Given the description of an element on the screen output the (x, y) to click on. 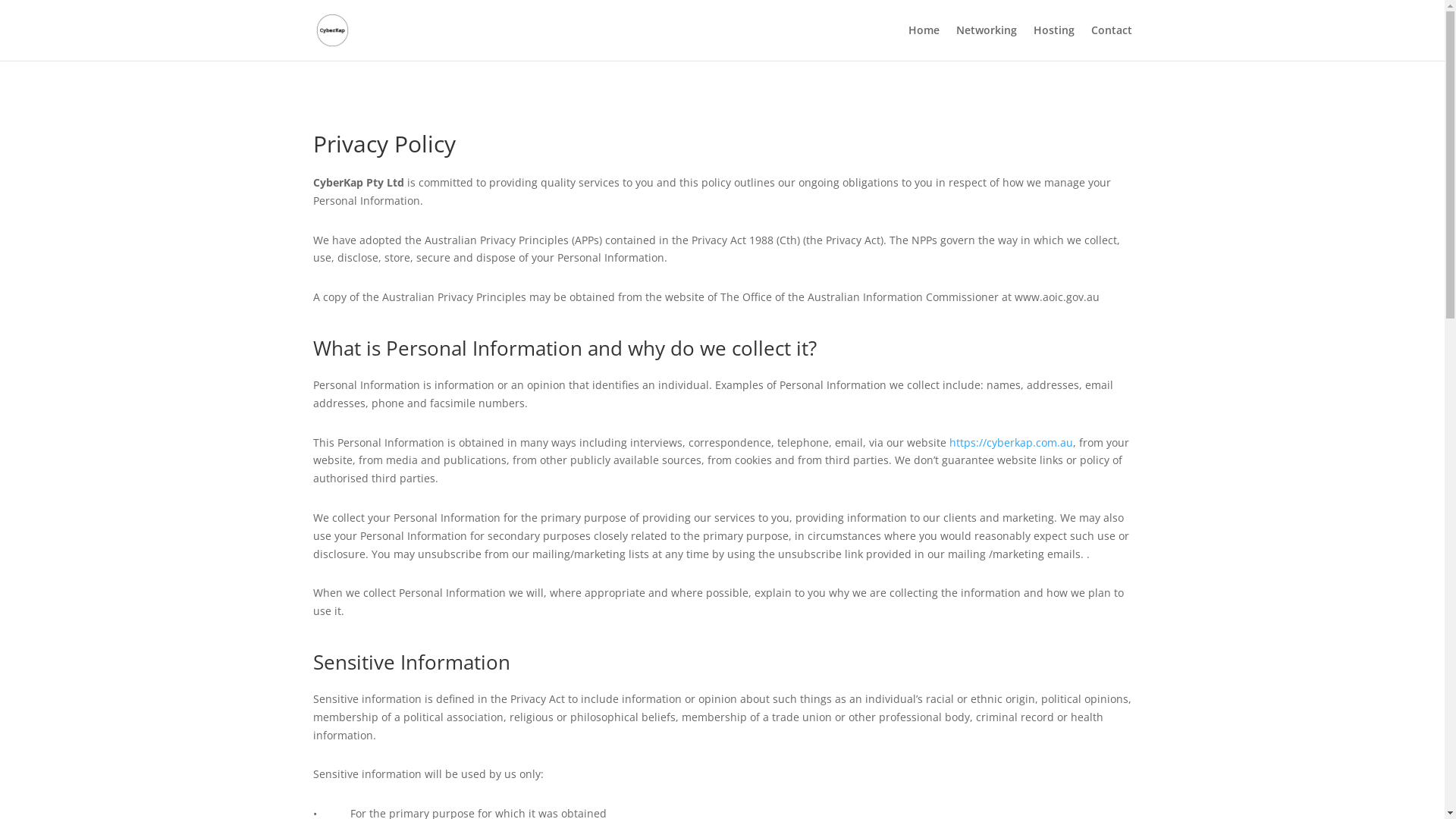
Hosting Element type: text (1052, 42)
https://cyberkap.com.au Element type: text (1011, 442)
Home Element type: text (923, 42)
Networking Element type: text (985, 42)
Contact Element type: text (1110, 42)
